Given the description of an element on the screen output the (x, y) to click on. 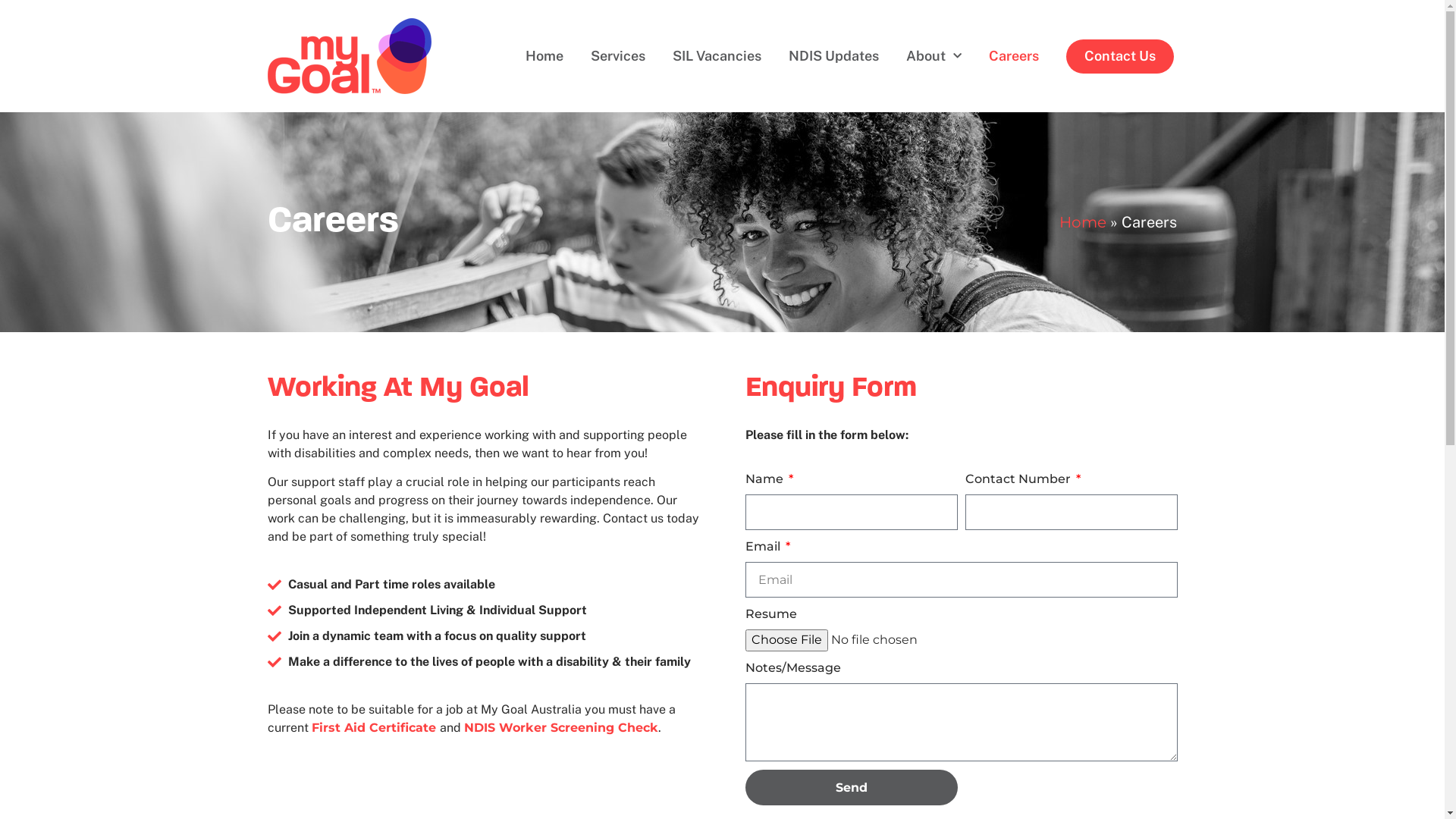
SIL Vacancies Element type: text (716, 56)
About Element type: text (933, 56)
NDIS Worker Screening Check Element type: text (561, 727)
Services Element type: text (617, 56)
Home Element type: text (544, 56)
First Aid Certificate Element type: text (374, 727)
NDIS Updates Element type: text (833, 56)
Contact Us Element type: text (1119, 56)
Send Element type: text (850, 787)
Careers Element type: text (1013, 56)
Home Element type: text (1082, 222)
